Given the description of an element on the screen output the (x, y) to click on. 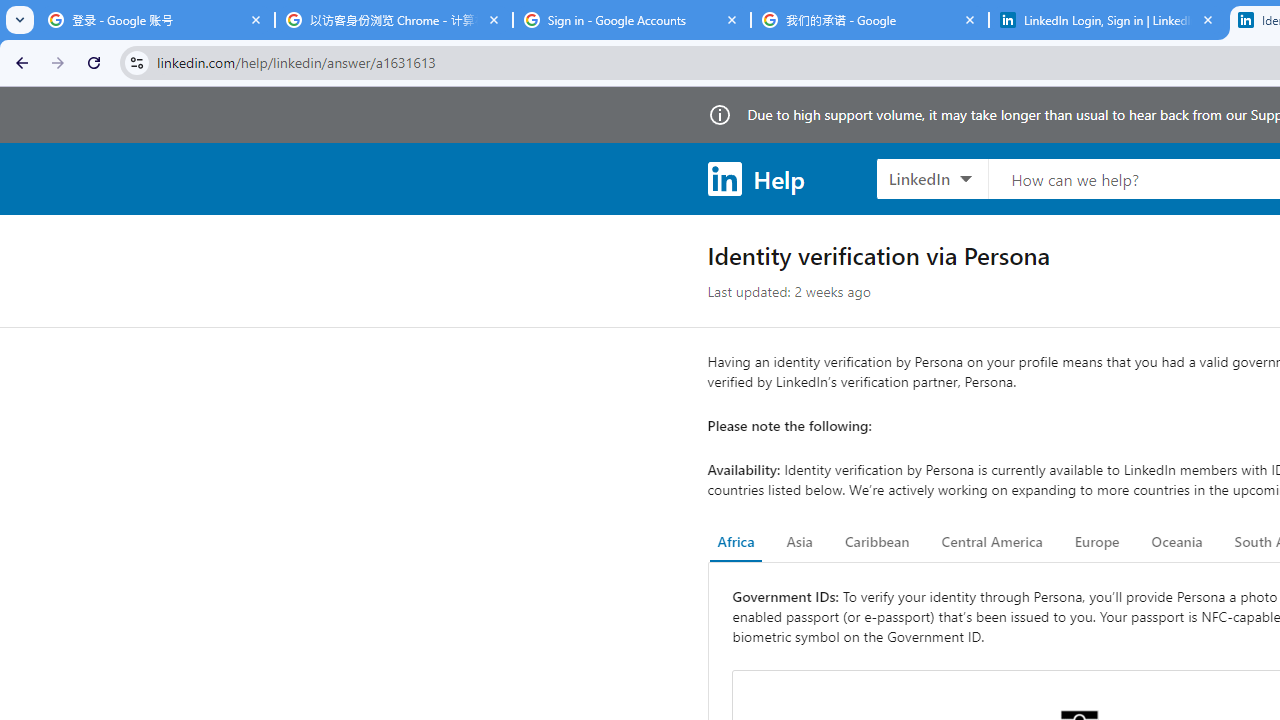
LinkedIn Login, Sign in | LinkedIn (1108, 20)
LinkedIn products to search, LinkedIn selected (932, 178)
Oceania (1176, 542)
Sign in - Google Accounts (632, 20)
Central America (991, 542)
Asia (799, 542)
Help (755, 178)
Europe (1096, 542)
